Given the description of an element on the screen output the (x, y) to click on. 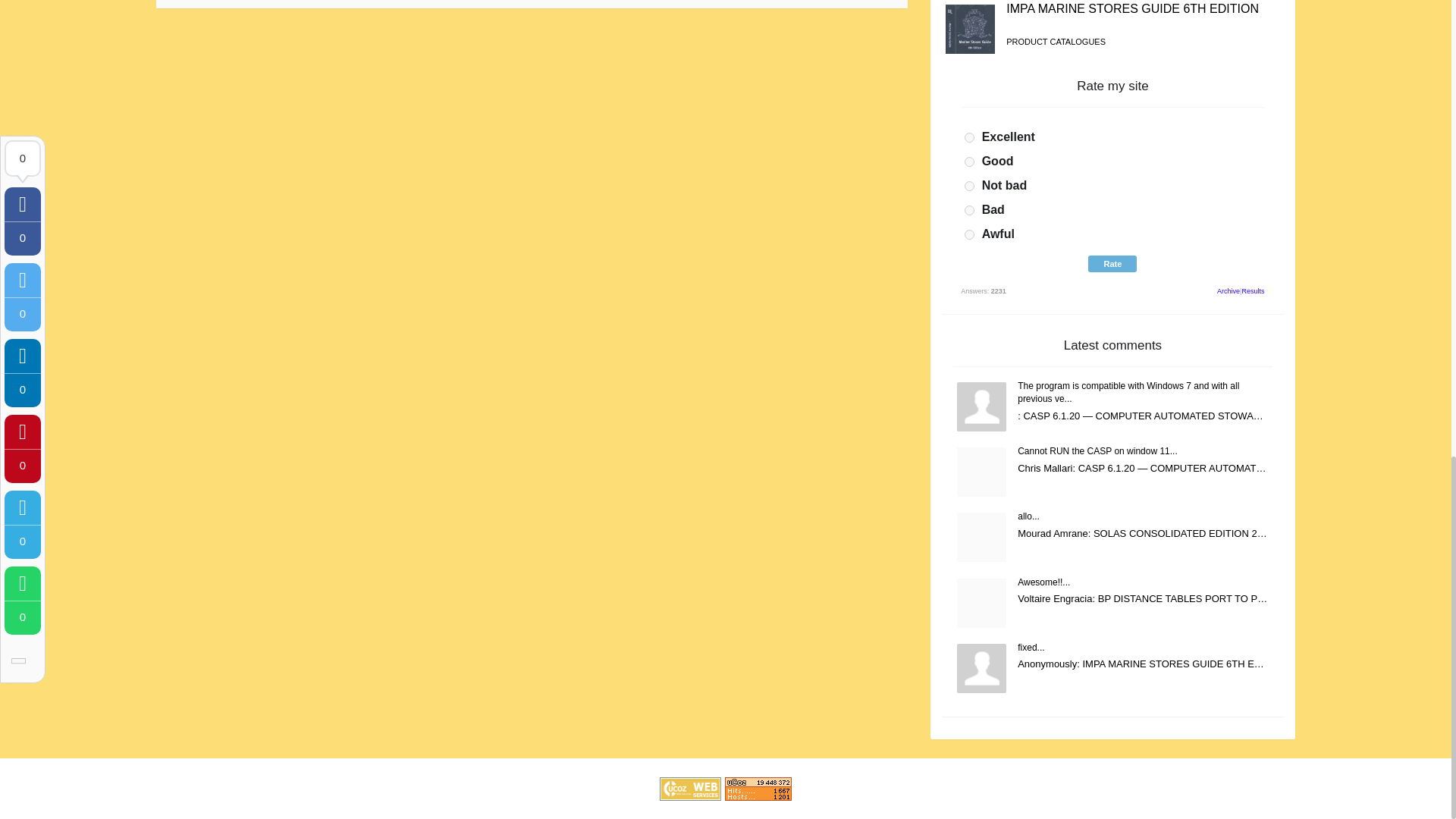
uCoz Counter (758, 788)
5 (968, 234)
Rate (1112, 263)
2 (968, 162)
1 (968, 137)
3 (968, 185)
PRODUCT CATALOGUES (1055, 40)
IMPA MARINE STORES GUIDE 6TH EDITION (1132, 8)
4 (968, 210)
